Given the description of an element on the screen output the (x, y) to click on. 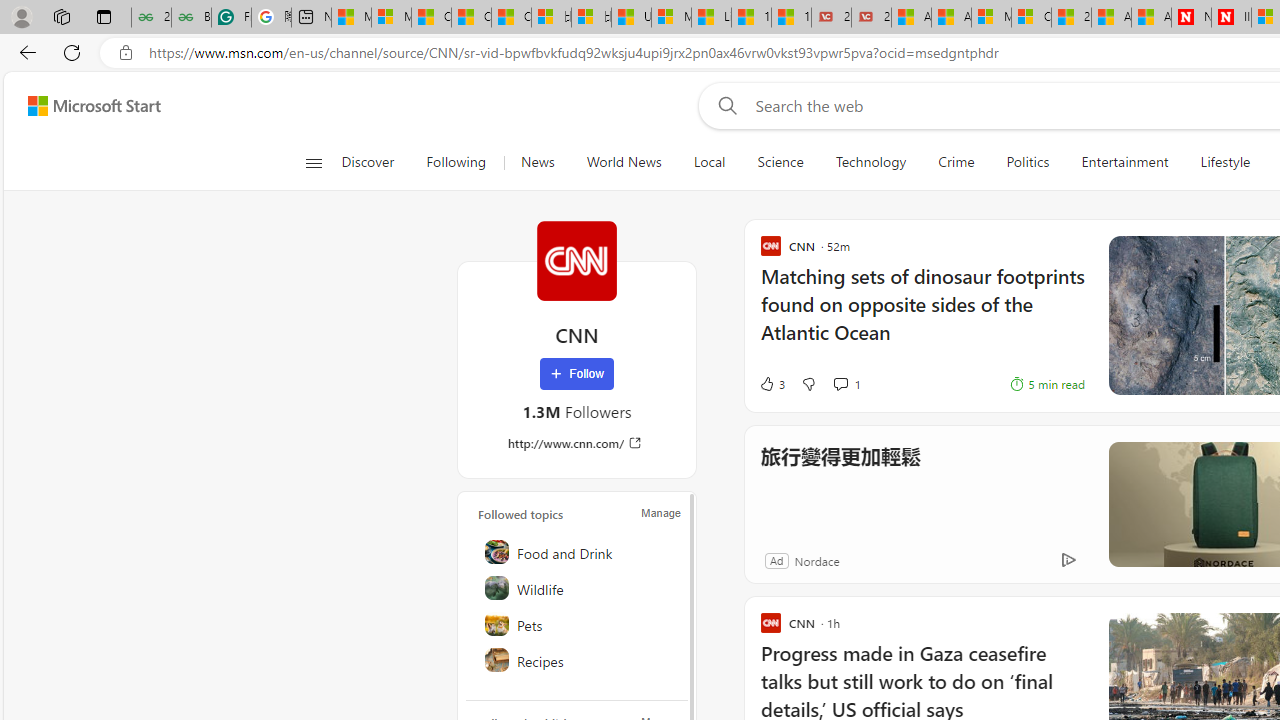
Microsoft Services Agreement (991, 17)
Lifestyle (1225, 162)
15 Ways Modern Life Contradicts the Teachings of Jesus (791, 17)
View comments 1 Comment (846, 384)
Local (709, 162)
Pets (578, 623)
CNN (576, 260)
Politics (1027, 162)
Illness news & latest pictures from Newsweek.com (1231, 17)
